Given the description of an element on the screen output the (x, y) to click on. 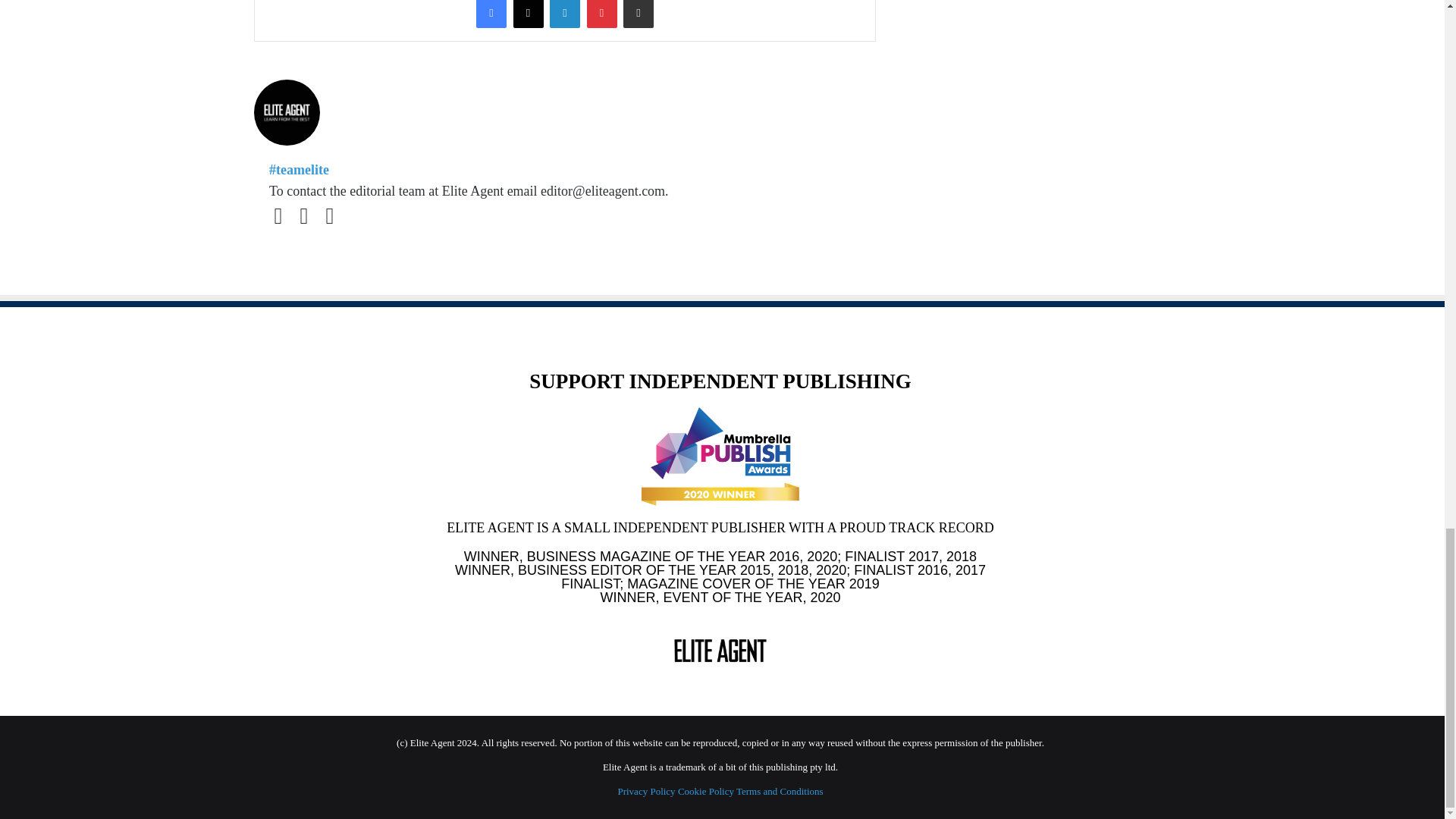
Facebook (491, 13)
